Given the description of an element on the screen output the (x, y) to click on. 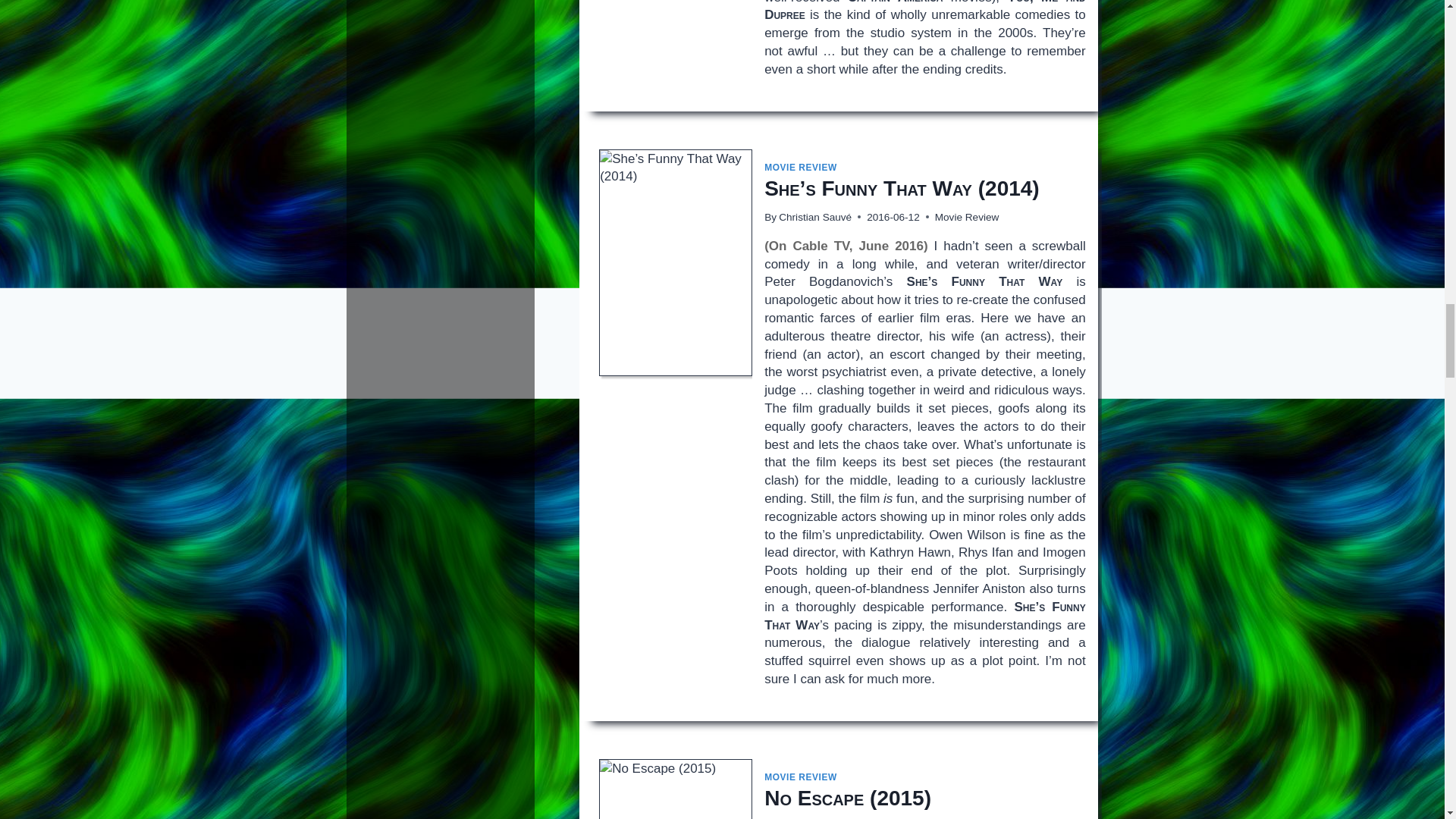
MOVIE REVIEW (800, 167)
MOVIE REVIEW (800, 777)
Movie Review (966, 216)
